Given the description of an element on the screen output the (x, y) to click on. 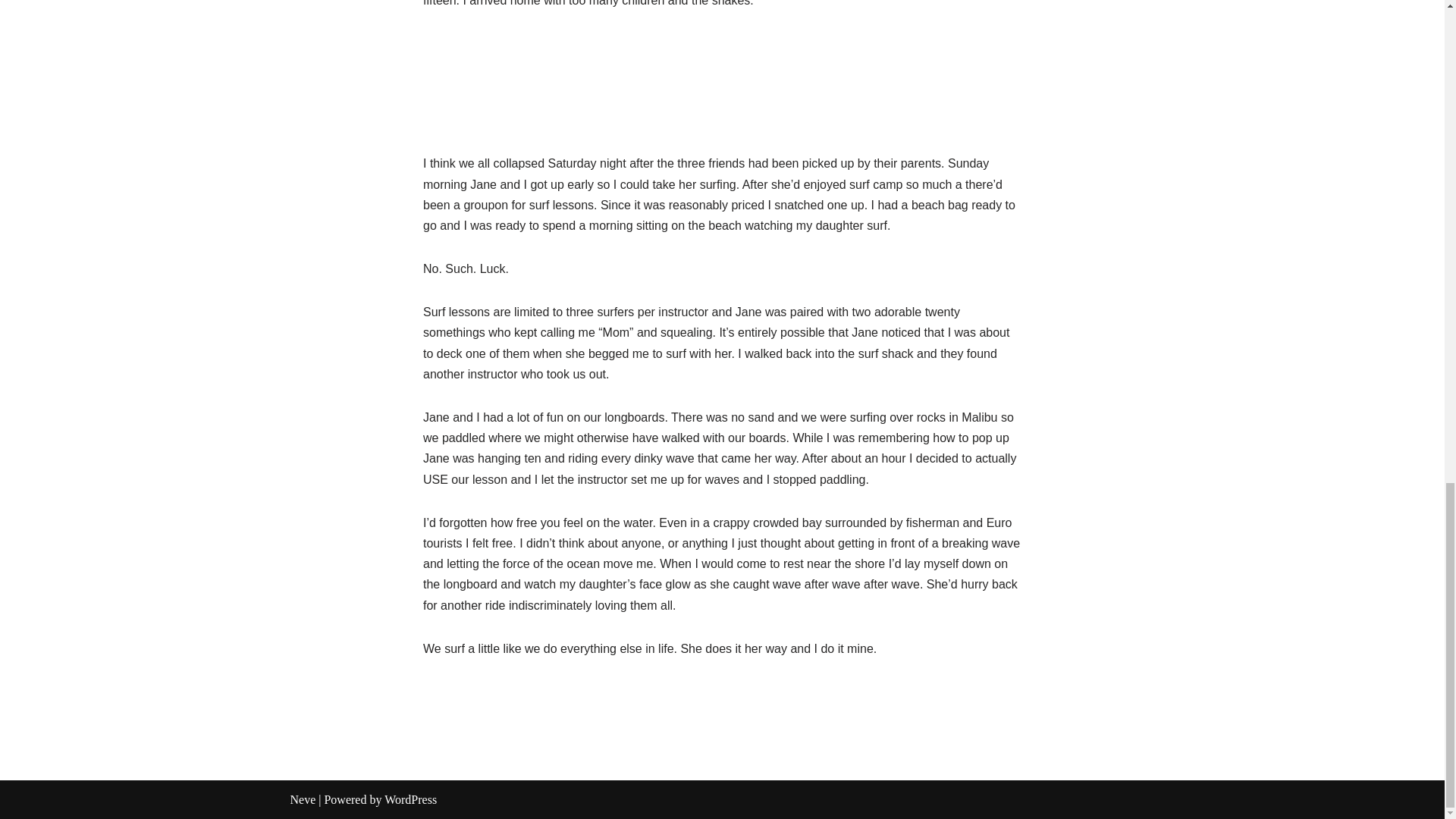
Neve (302, 799)
WordPress (410, 799)
